Given the description of an element on the screen output the (x, y) to click on. 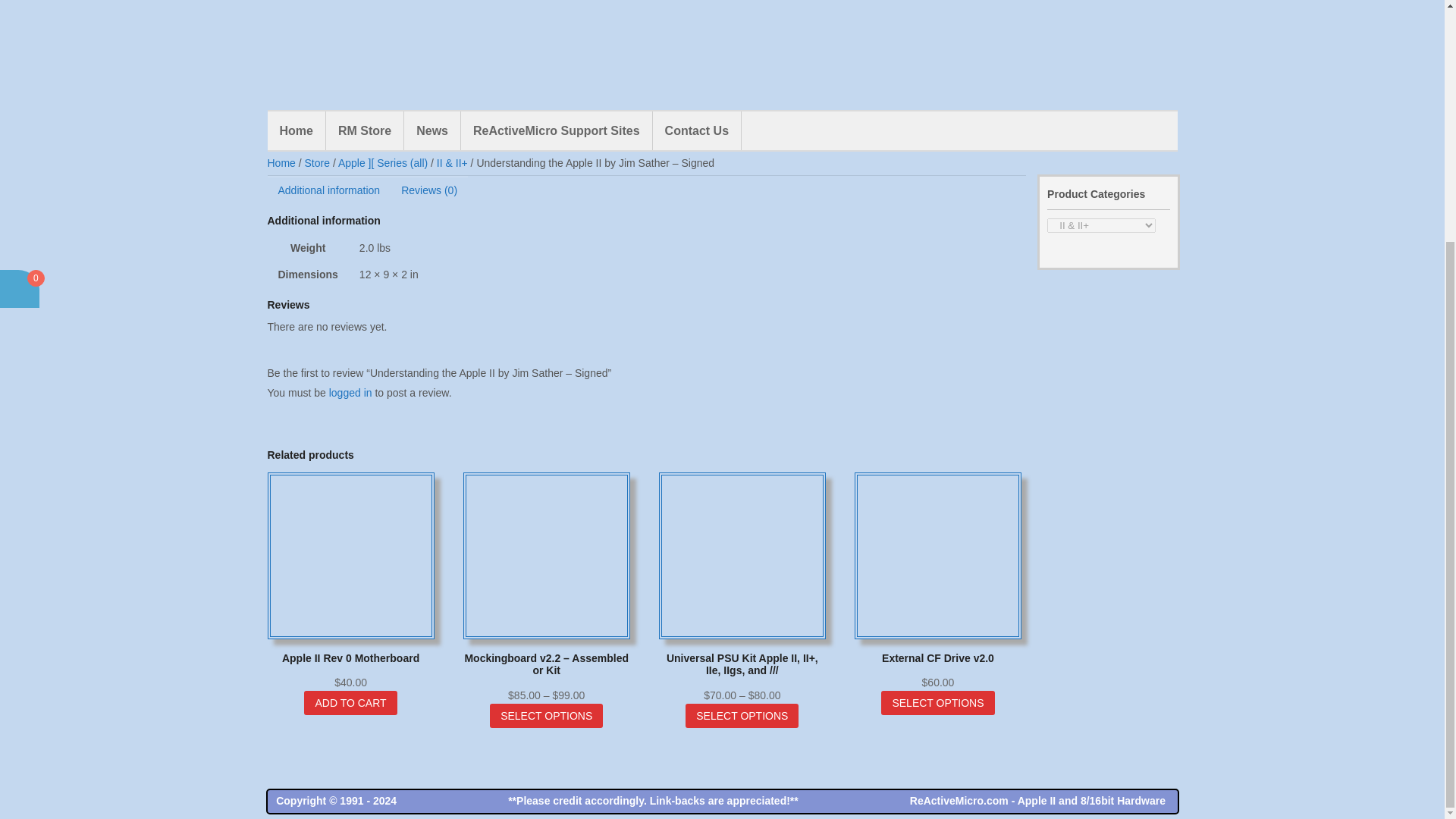
Additional information (328, 189)
ADD TO CART (350, 702)
logged in (350, 392)
ADD TO CART (635, 115)
SELECT OPTIONS (545, 715)
1 (553, 114)
